Given the description of an element on the screen output the (x, y) to click on. 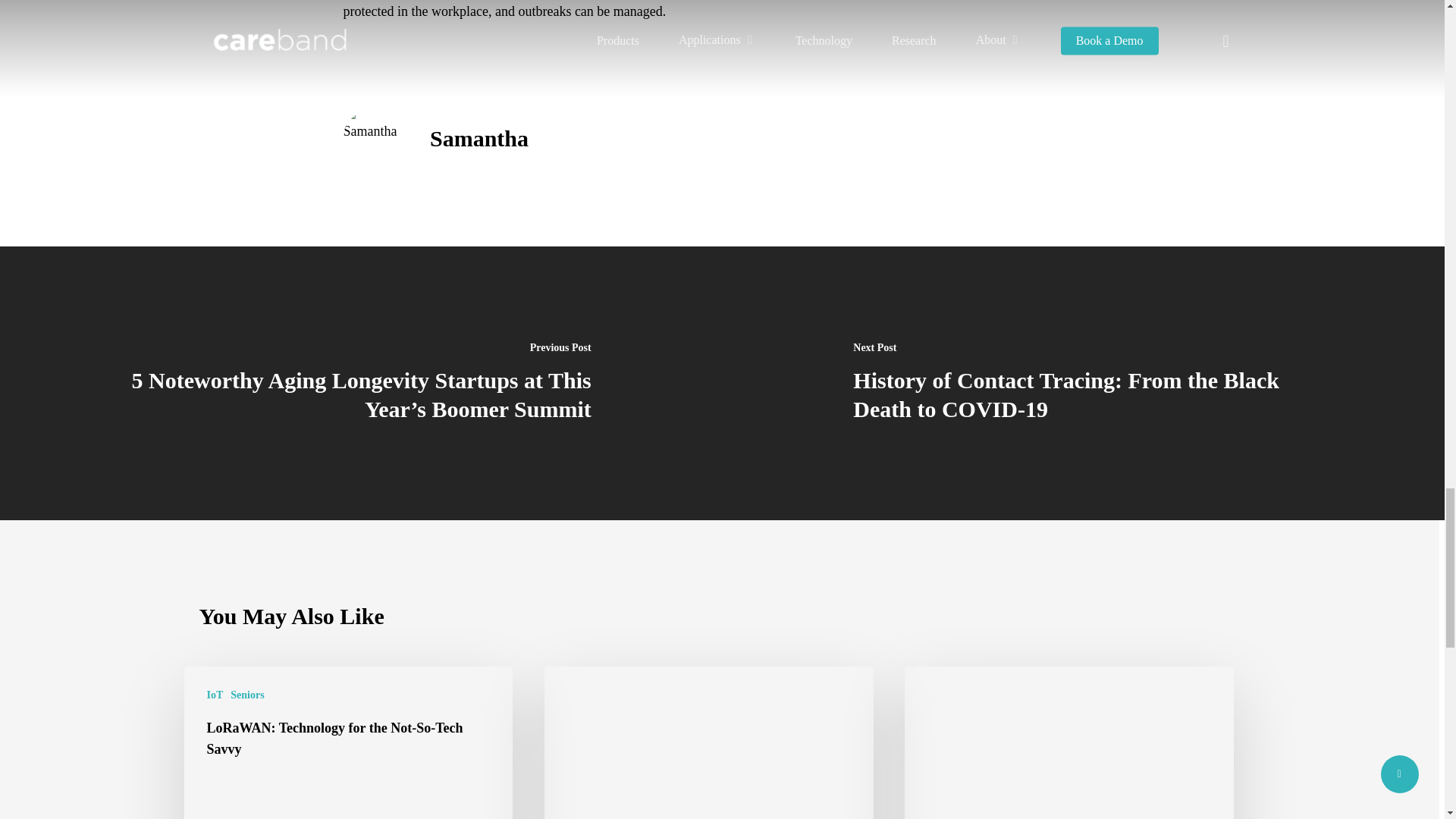
IoT (214, 694)
Samantha (478, 138)
Seniors (246, 694)
